Given the description of an element on the screen output the (x, y) to click on. 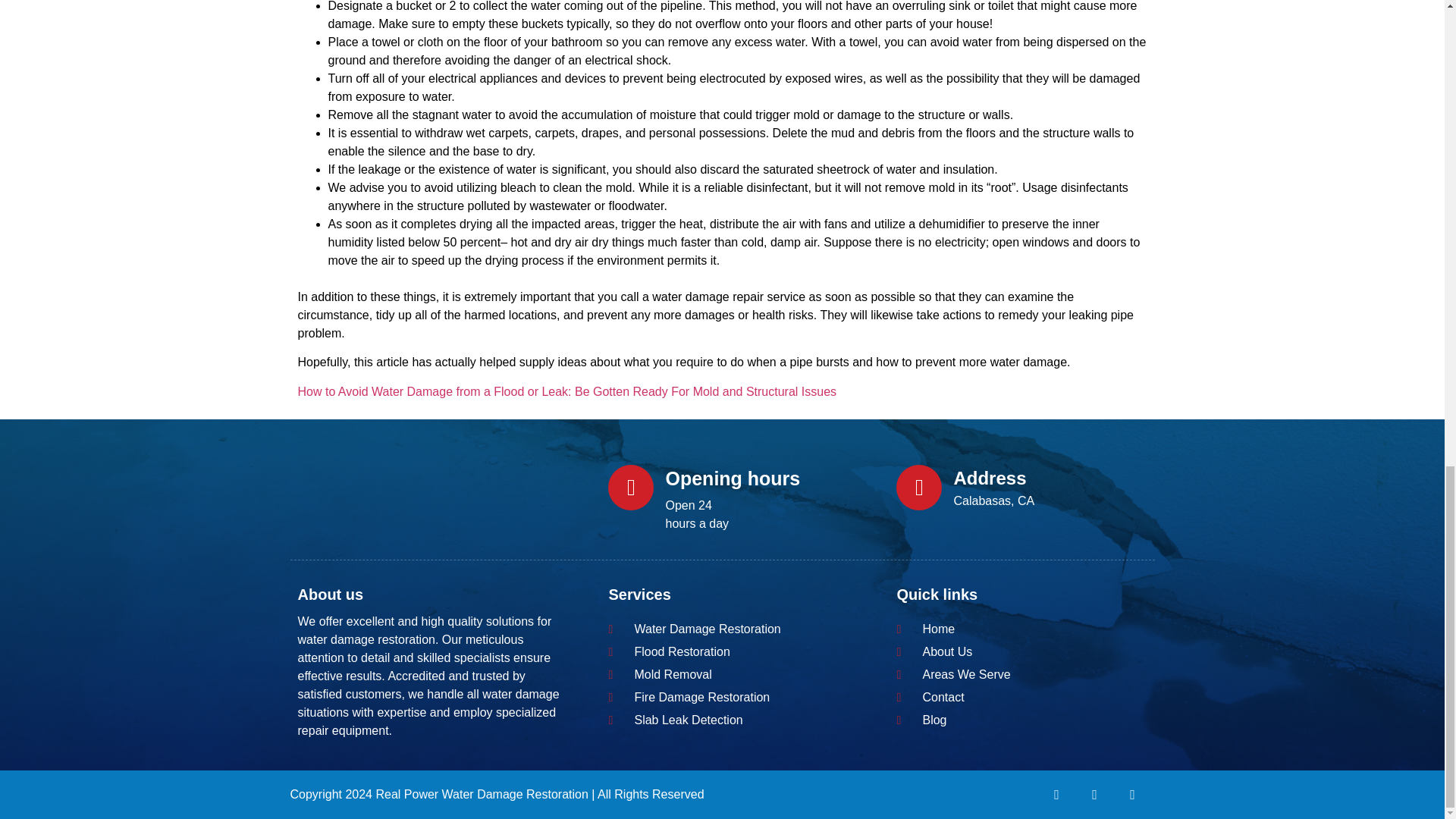
Fire Damage Restoration (721, 697)
Water Damage Restoration (721, 628)
Home (1010, 628)
Mold Removal (721, 674)
Slab Leak Detection (721, 720)
Flood Restoration (721, 651)
